Given the description of an element on the screen output the (x, y) to click on. 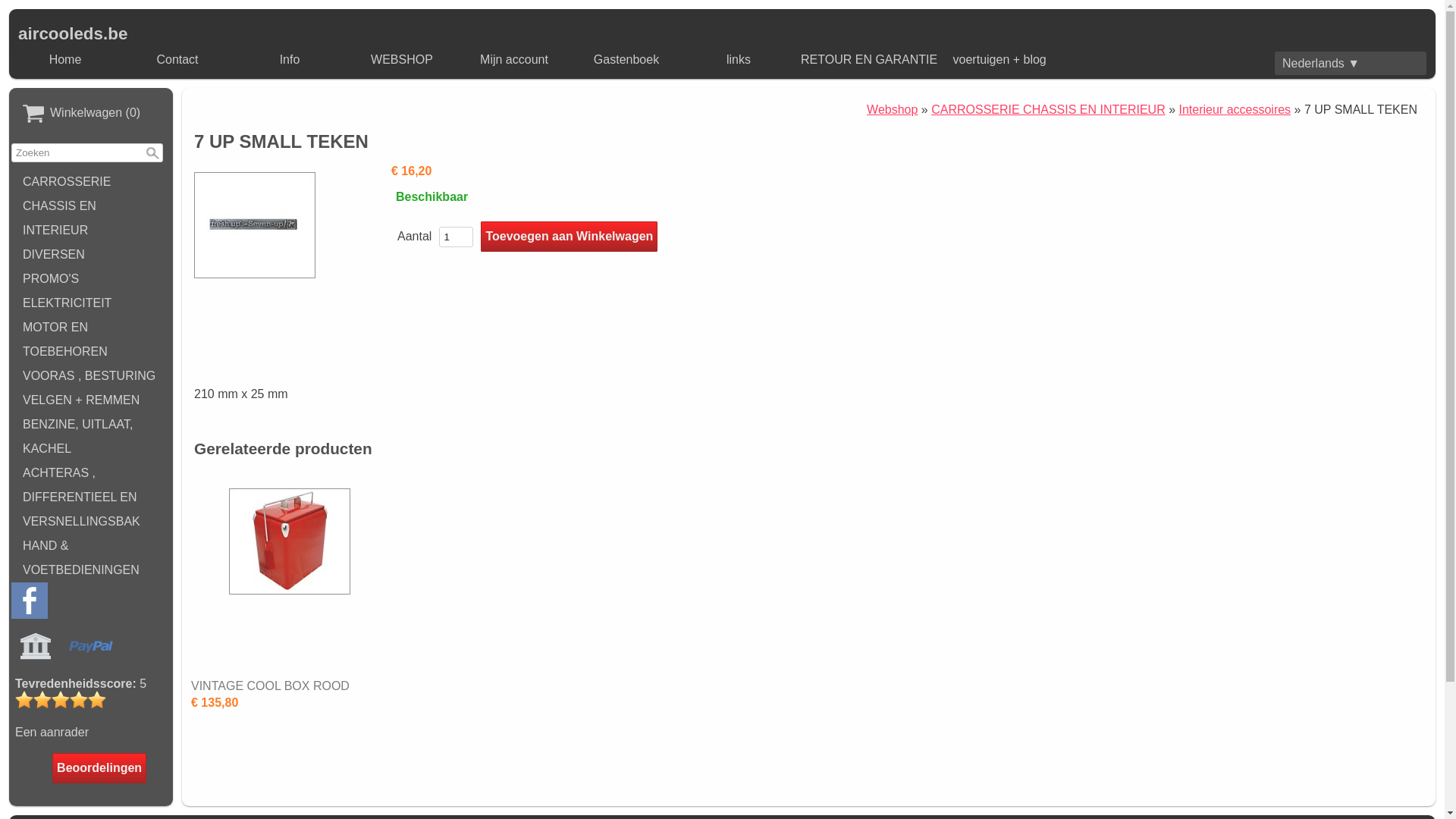
PROMO'S Element type: text (90, 278)
WEBSHOP Element type: text (401, 59)
ACHTERAS , DIFFERENTIEEL EN VERSNELLINGSBAK Element type: text (90, 497)
WinkelwagenWinkelwagen (0) Element type: text (90, 113)
ELEKTRICITEIT Element type: text (90, 303)
CARROSSERIE CHASSIS EN INTERIEUR Element type: text (1048, 109)
Contact Element type: text (177, 59)
MOTOR EN TOEBEHOREN Element type: text (90, 339)
Mijn account Element type: text (513, 59)
DIVERSEN Element type: text (90, 254)
aircooleds.be Element type: text (72, 33)
Info Element type: text (289, 59)
links Element type: text (738, 59)
voertuigen + blog Element type: text (999, 59)
VELGEN + REMMEN Element type: text (90, 400)
CARROSSERIE CHASSIS EN INTERIEUR Element type: text (90, 205)
Webshop Element type: text (891, 109)
VOORAS , BESTURING Element type: text (90, 376)
Toevoegen aan Winkelwagen Element type: text (568, 236)
Interieur accessoires Element type: text (1234, 109)
Home Element type: text (64, 59)
Gastenboek Element type: text (626, 59)
Beoordelingen Element type: text (99, 768)
HAND & VOETBEDIENINGEN Element type: text (90, 557)
RETOUR EN GARANTIE Element type: text (868, 59)
BENZINE, UITLAAT, KACHEL Element type: text (90, 436)
